Given the description of an element on the screen output the (x, y) to click on. 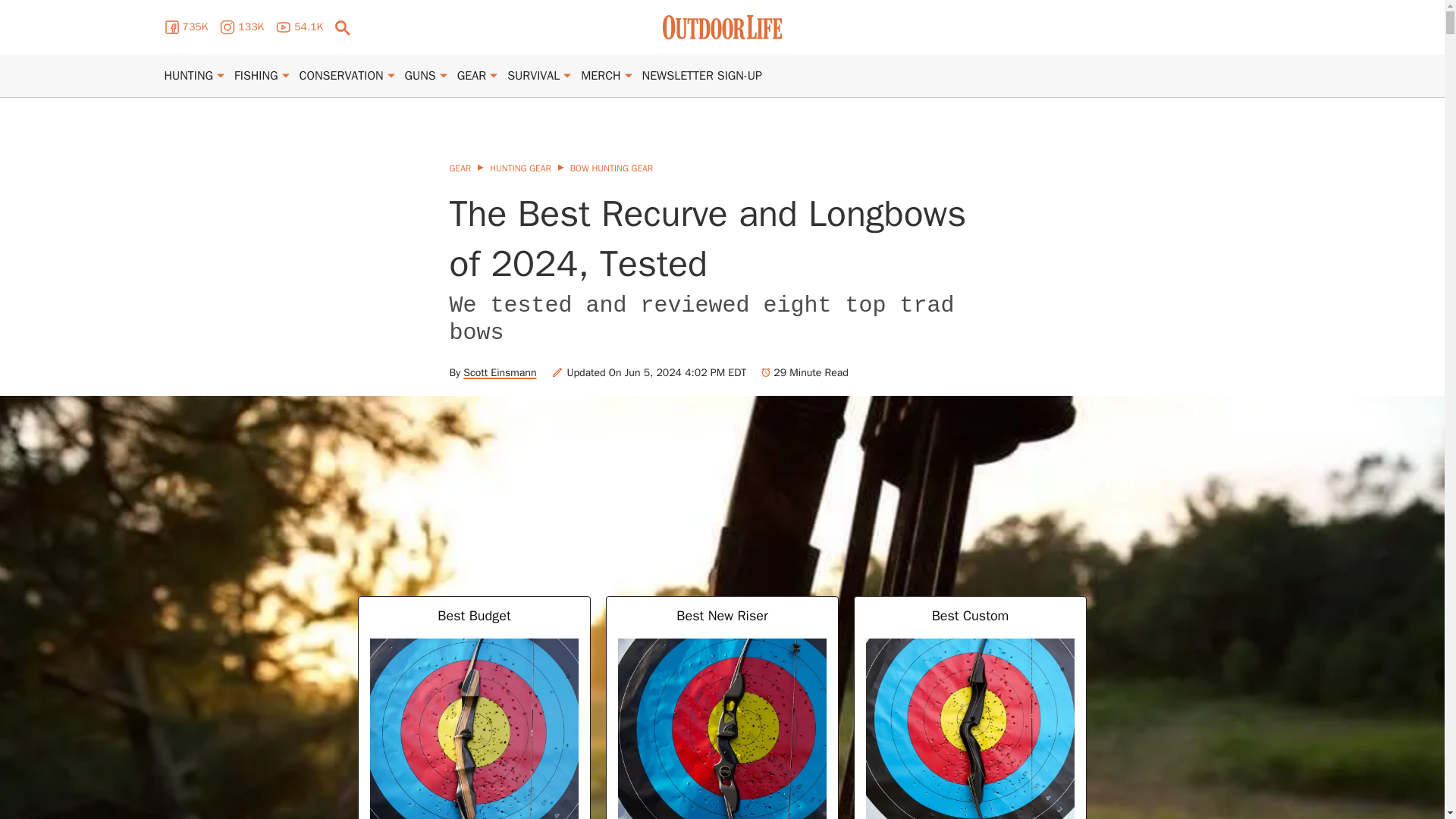
Conservation (341, 75)
Merch (600, 75)
Fishing (256, 75)
Guns (419, 75)
Hunting (187, 75)
Newsletter Sign-up (701, 75)
Survival (532, 75)
Gear (471, 75)
